Given the description of an element on the screen output the (x, y) to click on. 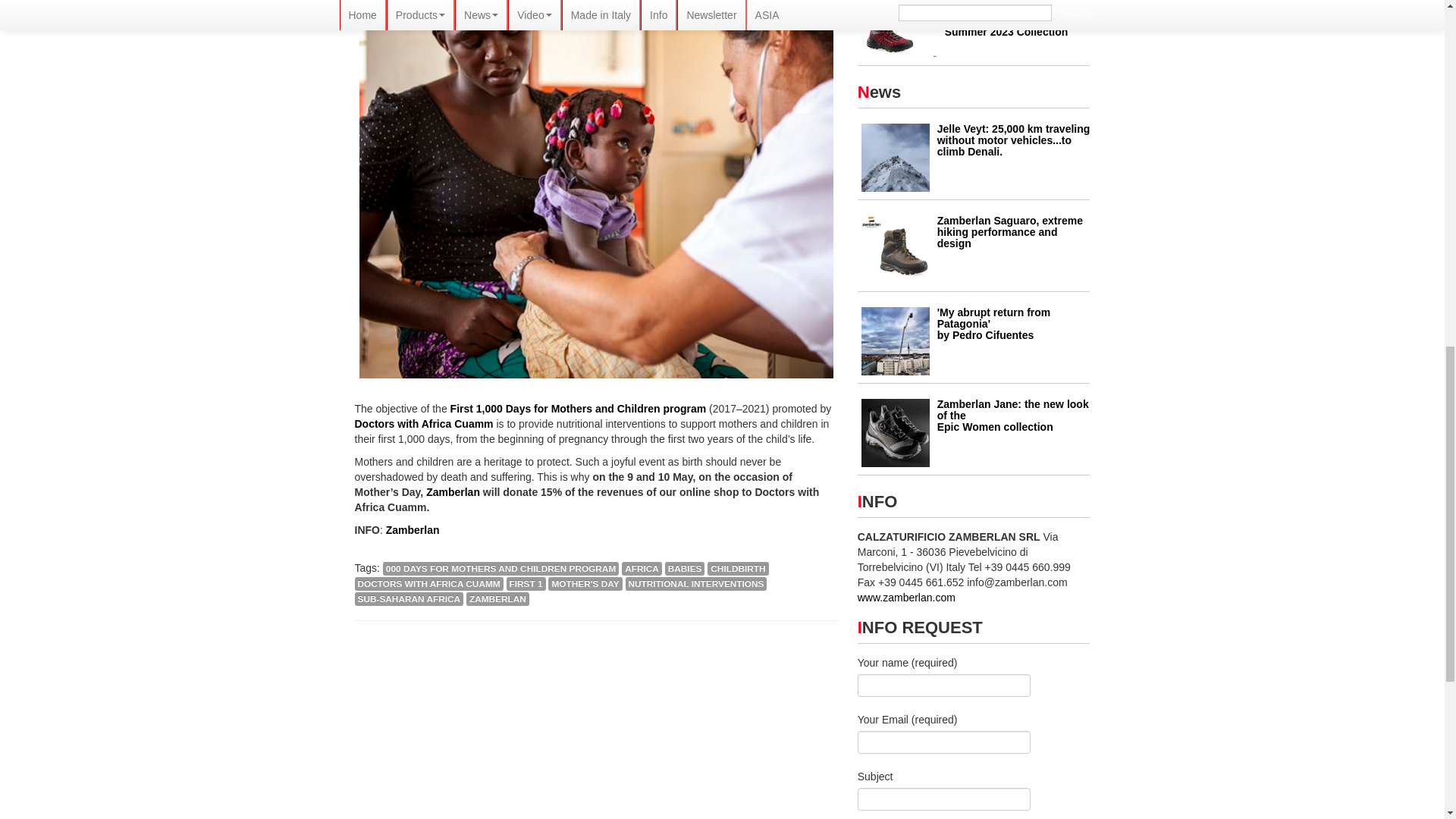
Zamberlan Circe GTX - Summer 2023 Collection (1006, 25)
Zamberlan Circe GTX - Summer 2023 Collection (899, 35)
